Given the description of an element on the screen output the (x, y) to click on. 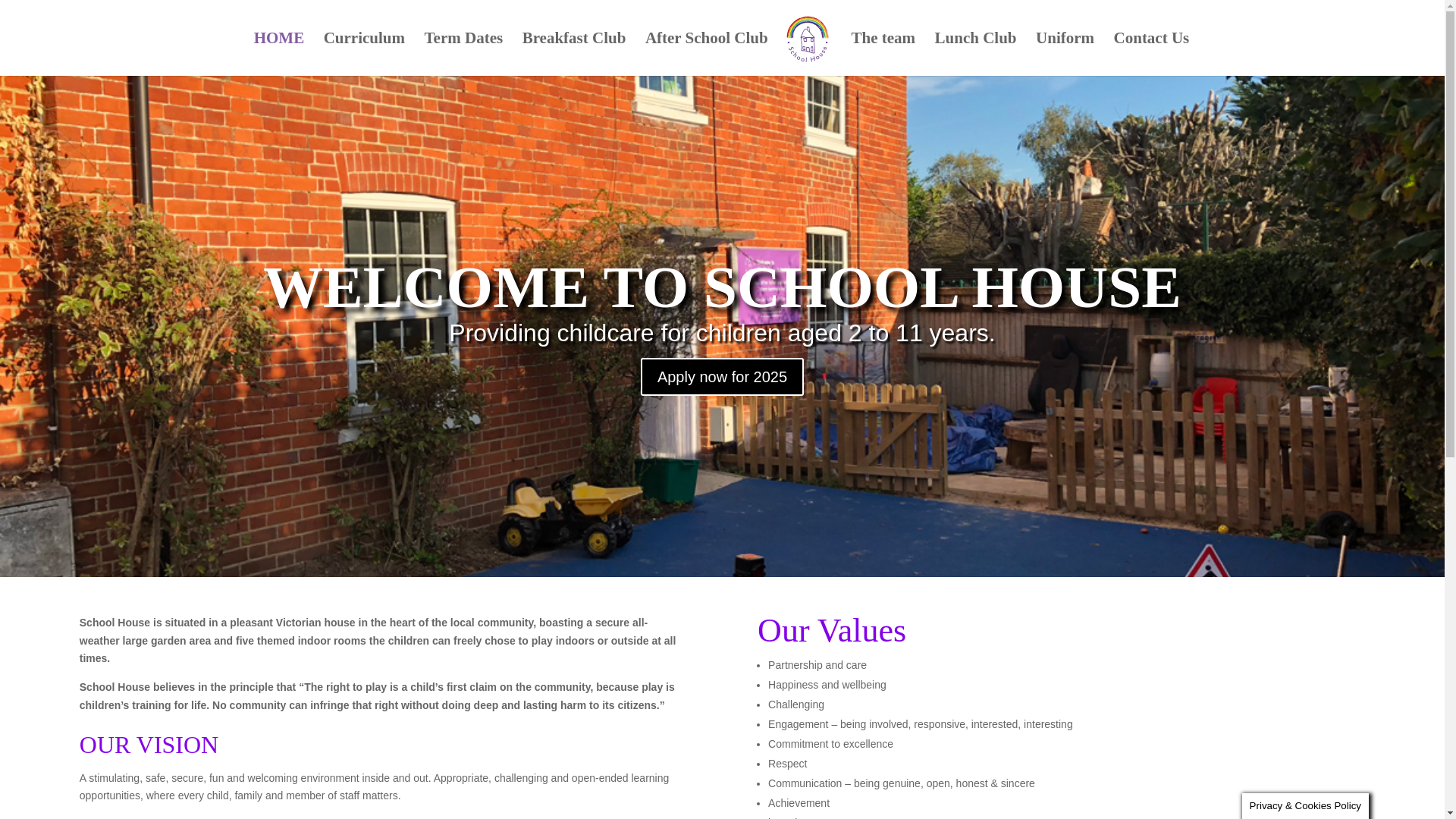
After School Club (706, 54)
Lunch Club (975, 54)
Curriculum (363, 54)
The team (882, 54)
Breakfast Club (574, 54)
Uniform (1064, 54)
Term Dates (464, 54)
Contact Us (1151, 54)
HOME (278, 54)
